Given the description of an element on the screen output the (x, y) to click on. 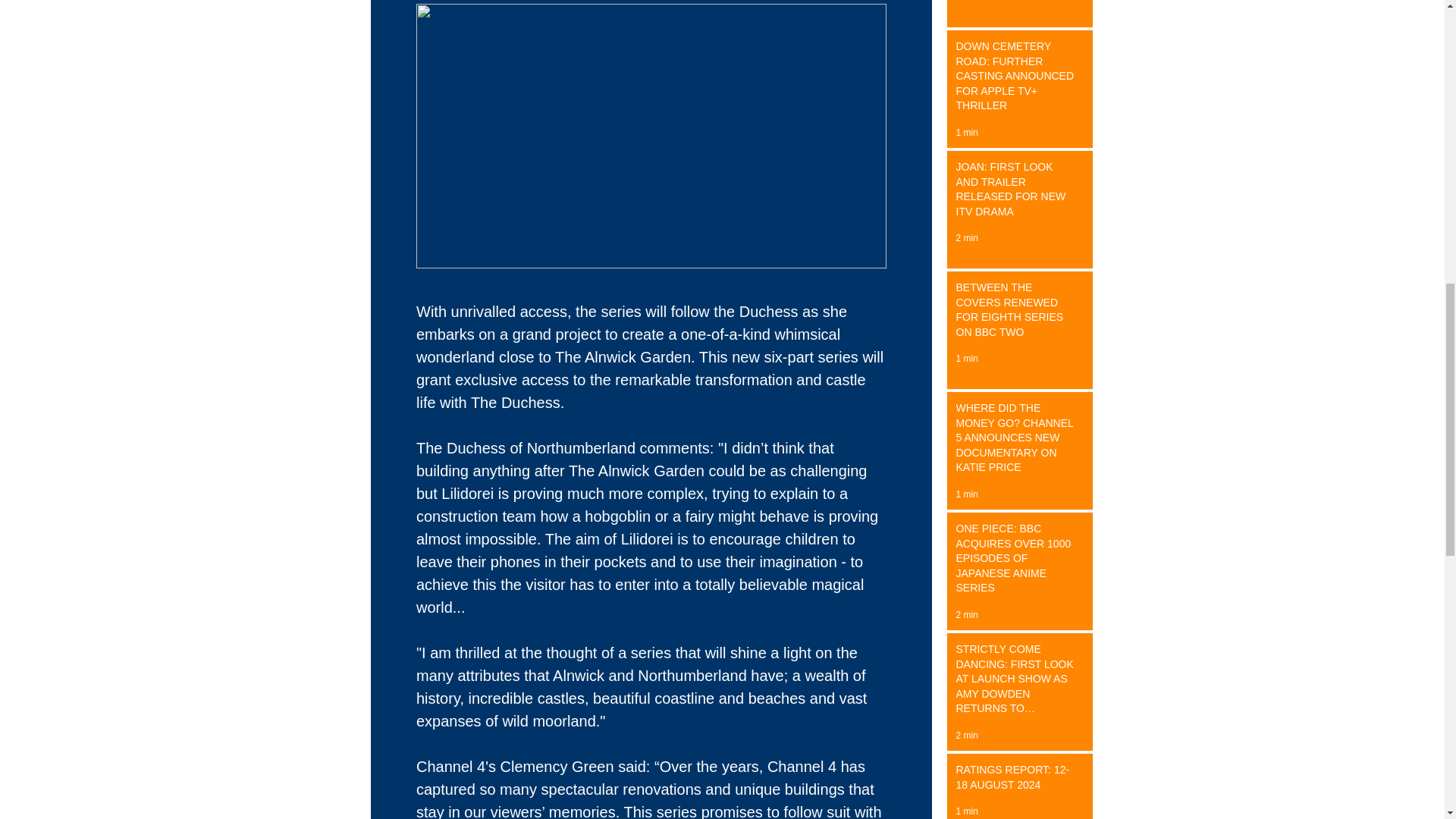
BETWEEN THE COVERS RENEWED FOR EIGHTH SERIES ON BBC TWO (1014, 312)
1 min (965, 357)
3 min (965, 1)
RATINGS REPORT: 12-18 AUGUST 2024 (1014, 780)
1 min (965, 810)
2 min (965, 735)
JOAN: FIRST LOOK AND TRAILER RELEASED FOR NEW ITV DRAMA (1014, 192)
1 min (965, 132)
1 min (965, 493)
